Given the description of an element on the screen output the (x, y) to click on. 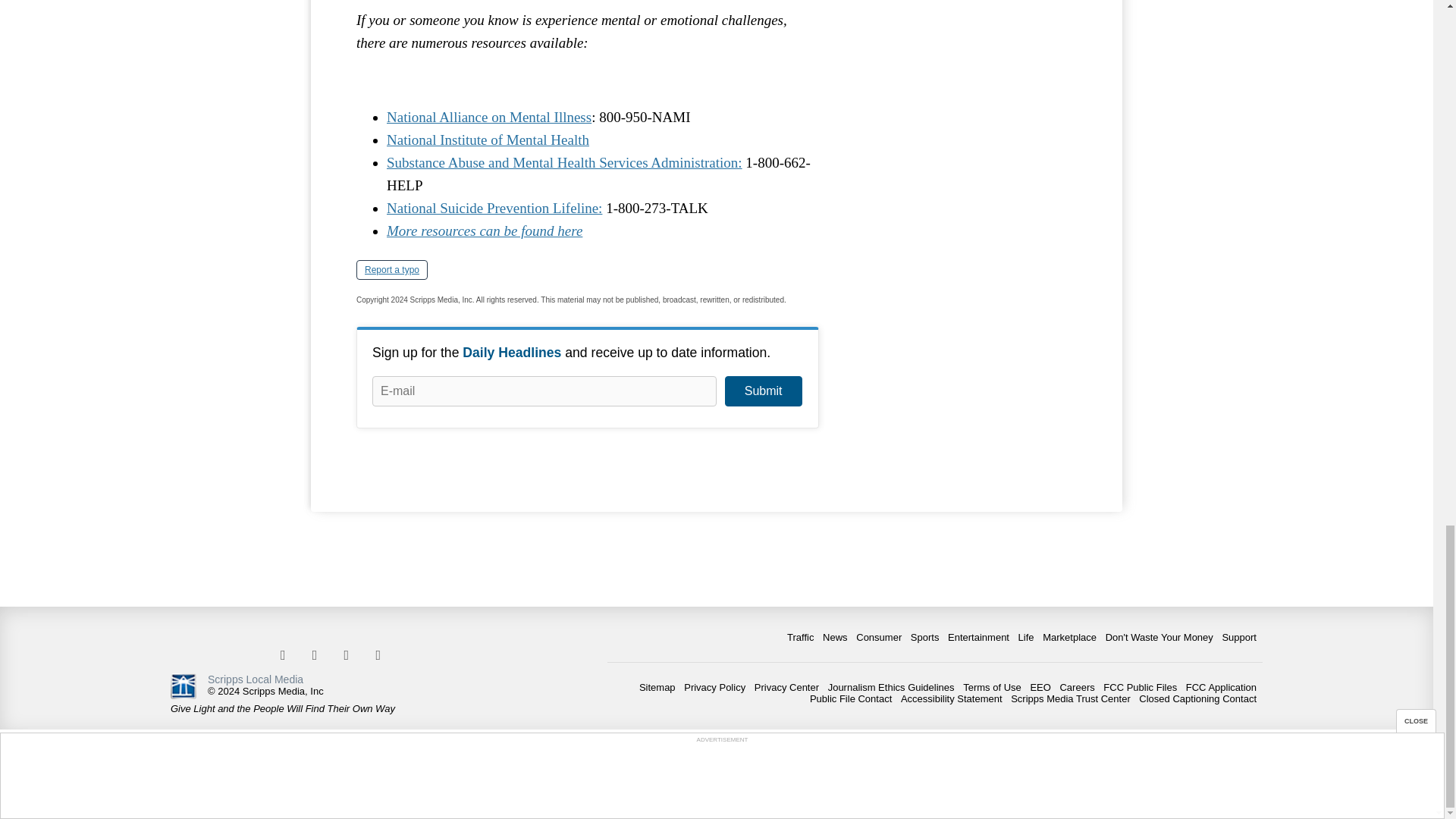
Submit (763, 390)
